Given the description of an element on the screen output the (x, y) to click on. 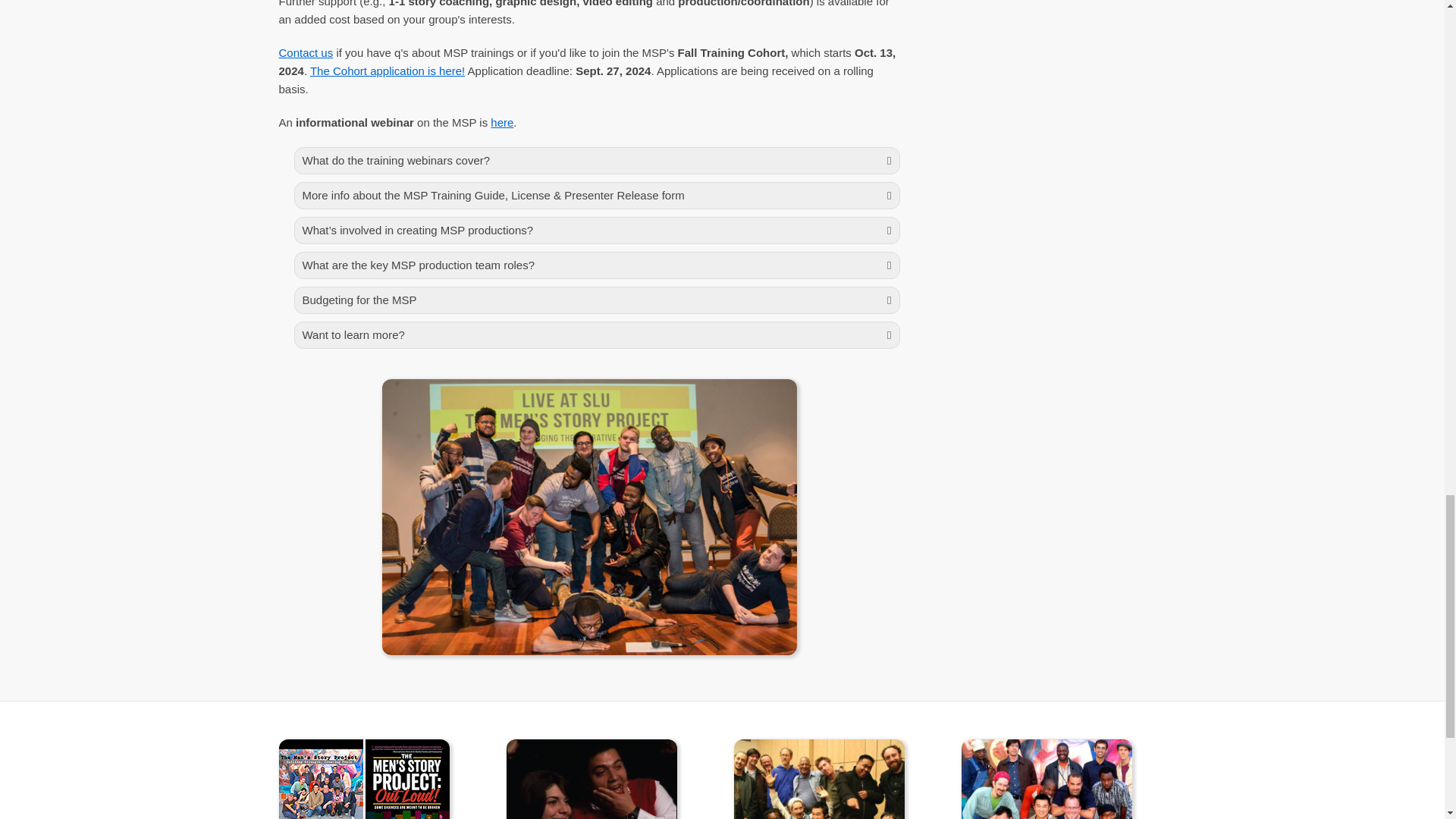
here (501, 122)
The Cohort application is here! (387, 70)
Contact us (306, 51)
